Given the description of an element on the screen output the (x, y) to click on. 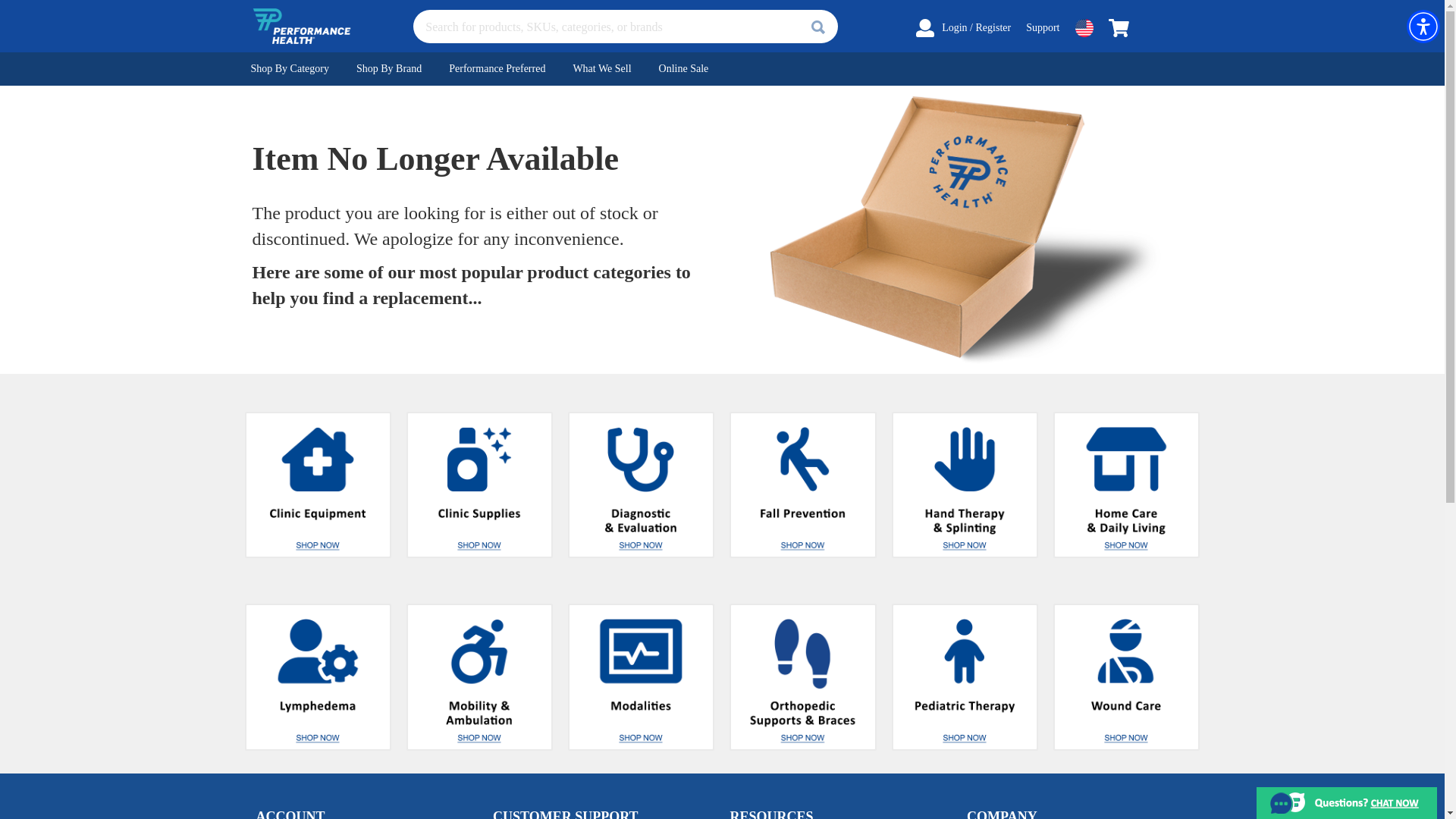
My Cart (1118, 27)
Accessibility Menu (1422, 26)
Performance Health (300, 26)
Search (817, 27)
Shop By Category (289, 68)
Search (817, 27)
My Account (924, 27)
